Given the description of an element on the screen output the (x, y) to click on. 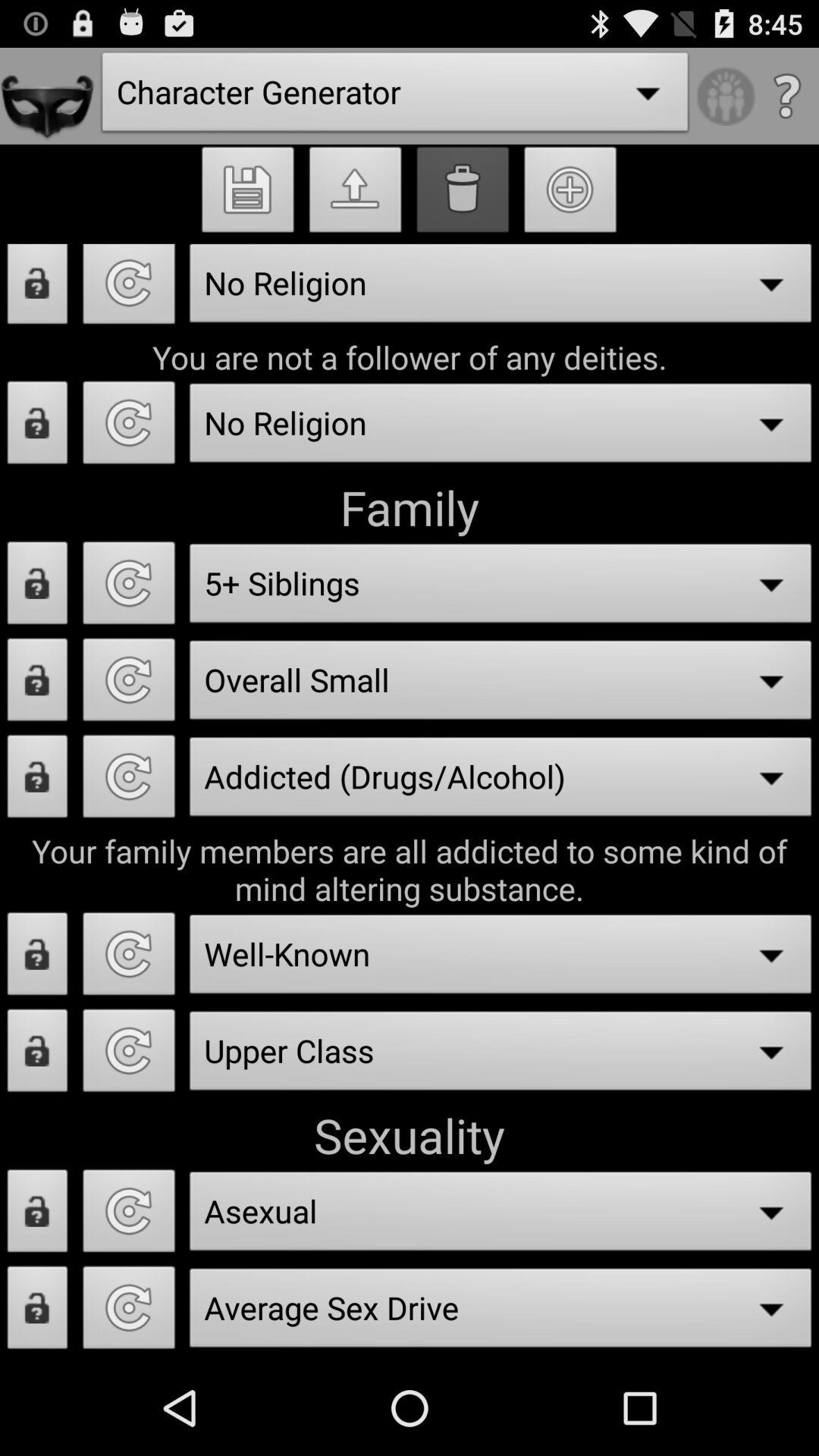
unlock character (37, 426)
